Given the description of an element on the screen output the (x, y) to click on. 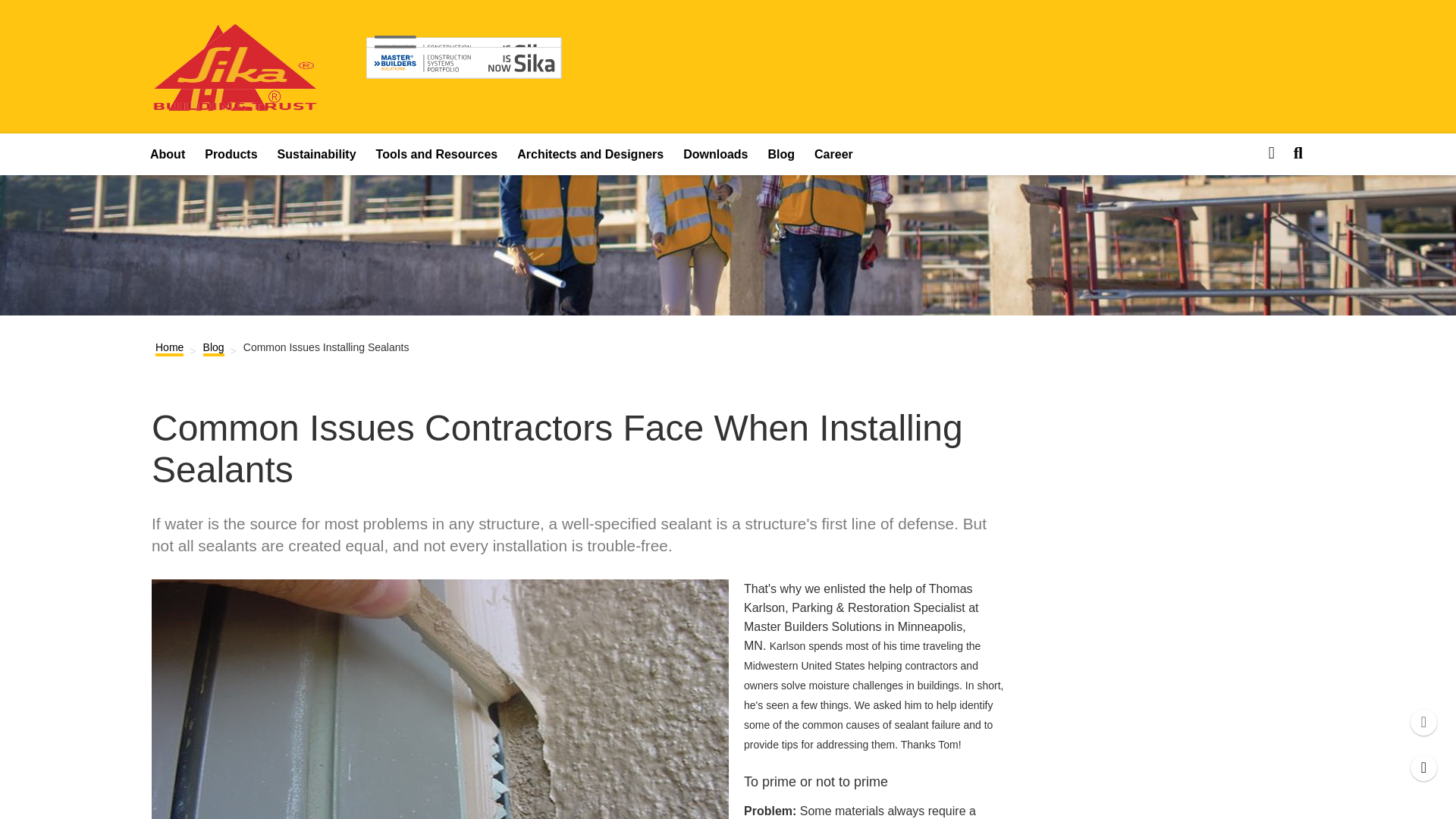
North America (234, 101)
About (167, 154)
Contact (1423, 767)
Products (230, 154)
North America (464, 54)
